Given the description of an element on the screen output the (x, y) to click on. 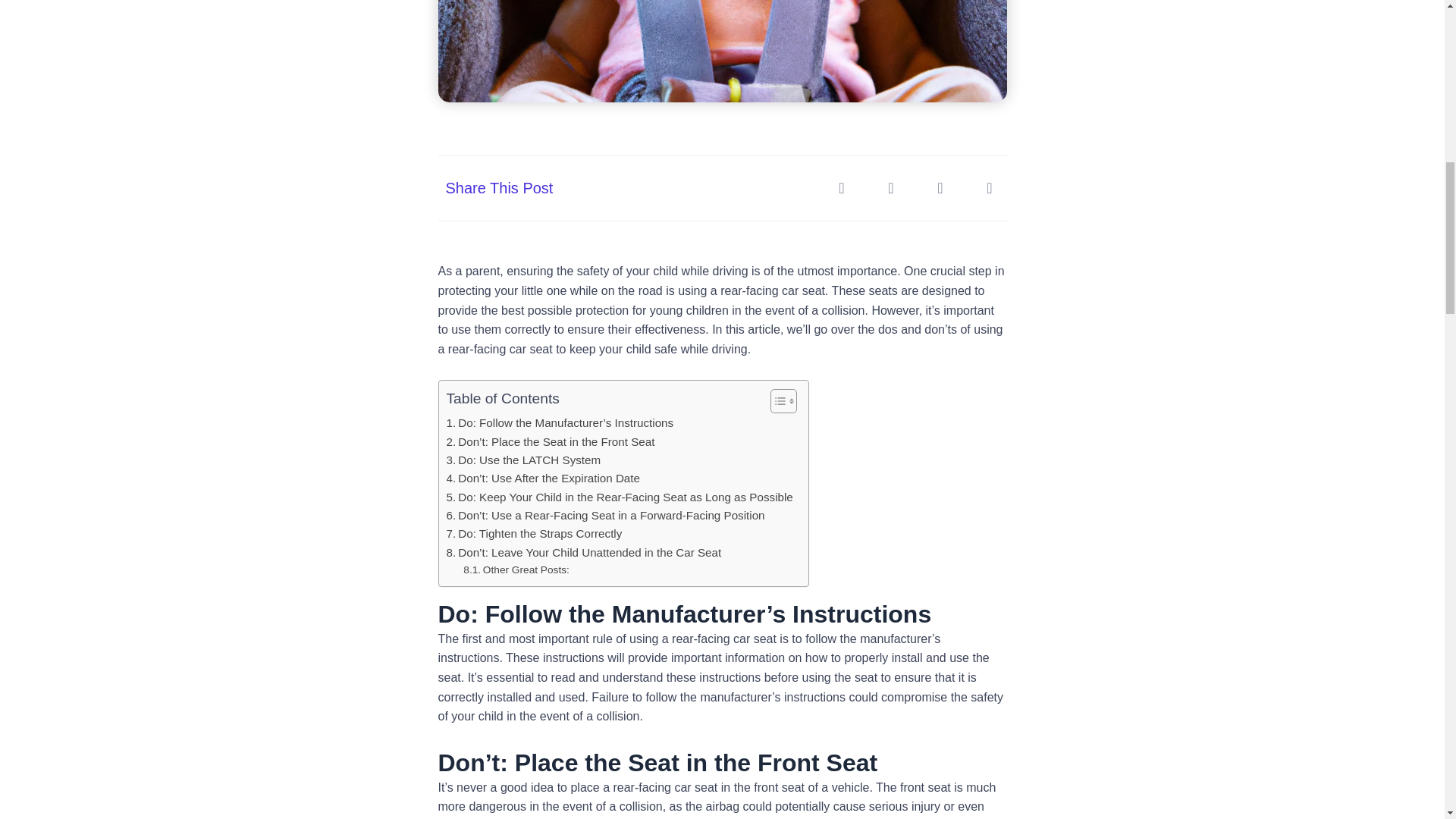
Do: Use the LATCH System (522, 460)
Other Great Posts: (516, 569)
Do: Use the LATCH System (522, 460)
Do: Tighten the Straps Correctly (533, 533)
